Given the description of an element on the screen output the (x, y) to click on. 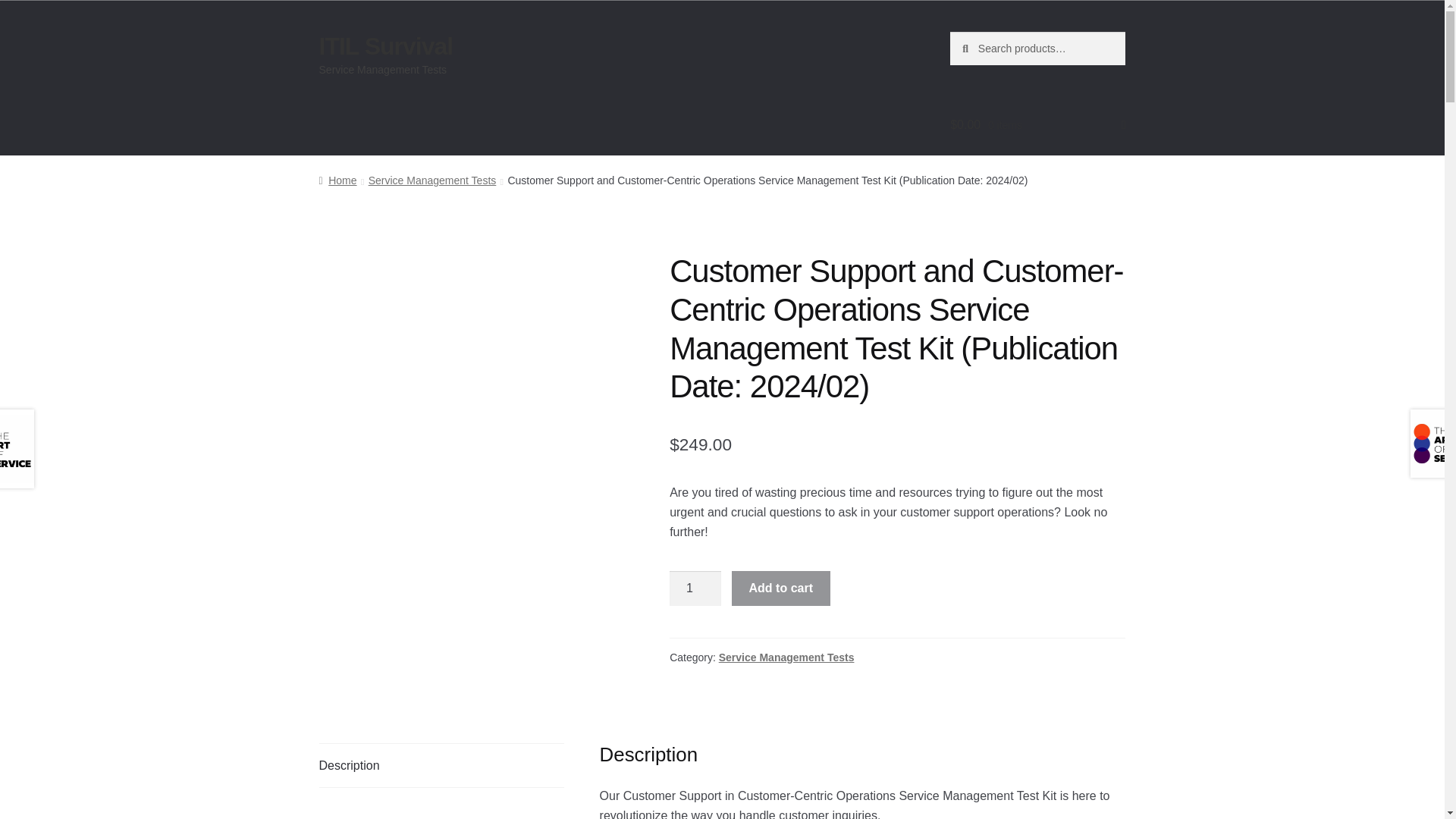
View your shopping cart (1037, 124)
Service Management Tests (432, 180)
ITIL Survival (385, 45)
Home (337, 180)
Service Management Tests (786, 657)
Add to cart (780, 588)
Description (441, 765)
1 (694, 588)
